Given the description of an element on the screen output the (x, y) to click on. 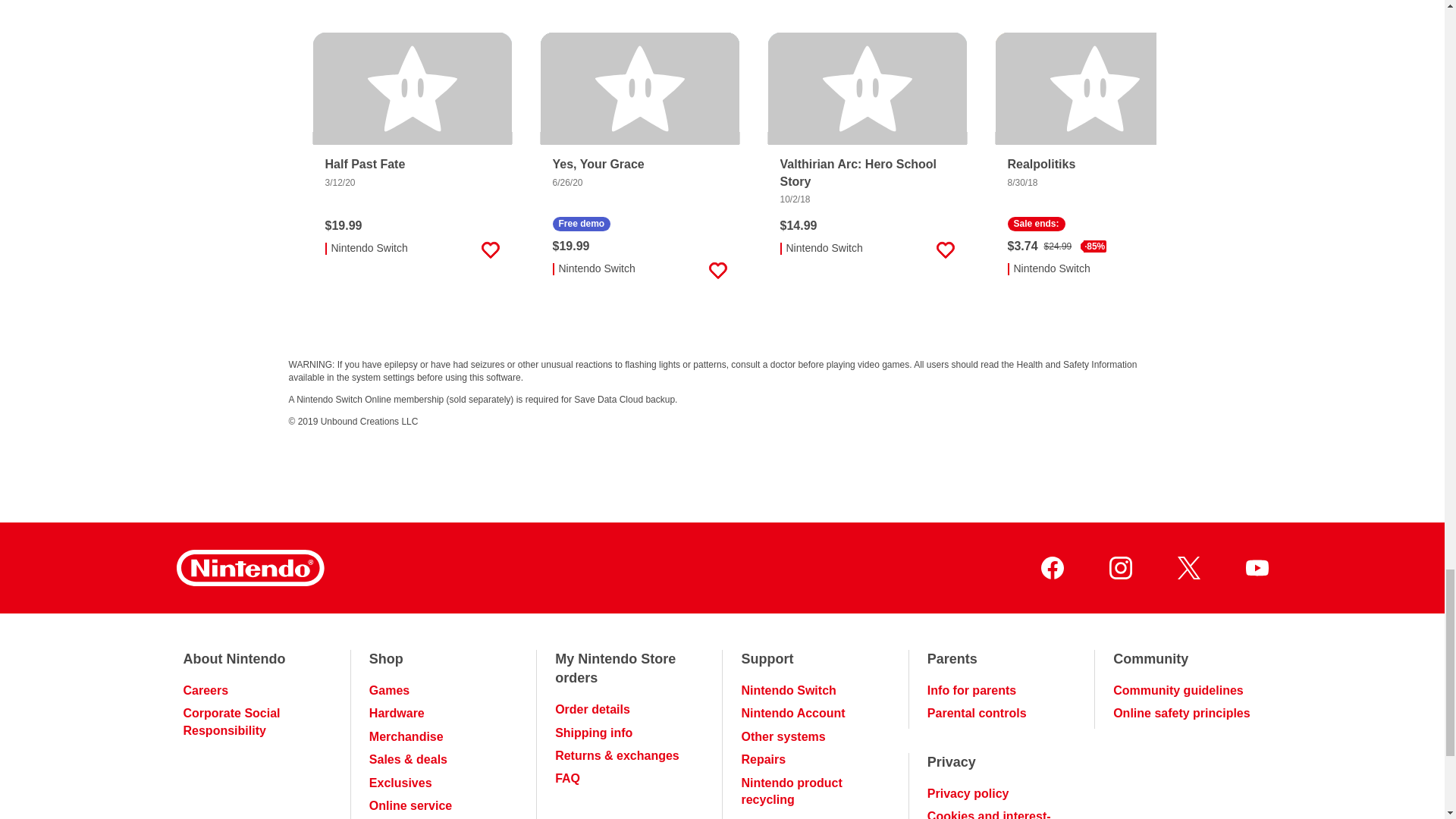
Add to Wish List (489, 250)
Nintendo Homepage (249, 567)
Nintendo on Facebook (1051, 567)
Add to Wish List (944, 250)
Add to Wish List (1172, 270)
Nintendo on Instagram (1119, 567)
Add to Wish List (716, 270)
